Given the description of an element on the screen output the (x, y) to click on. 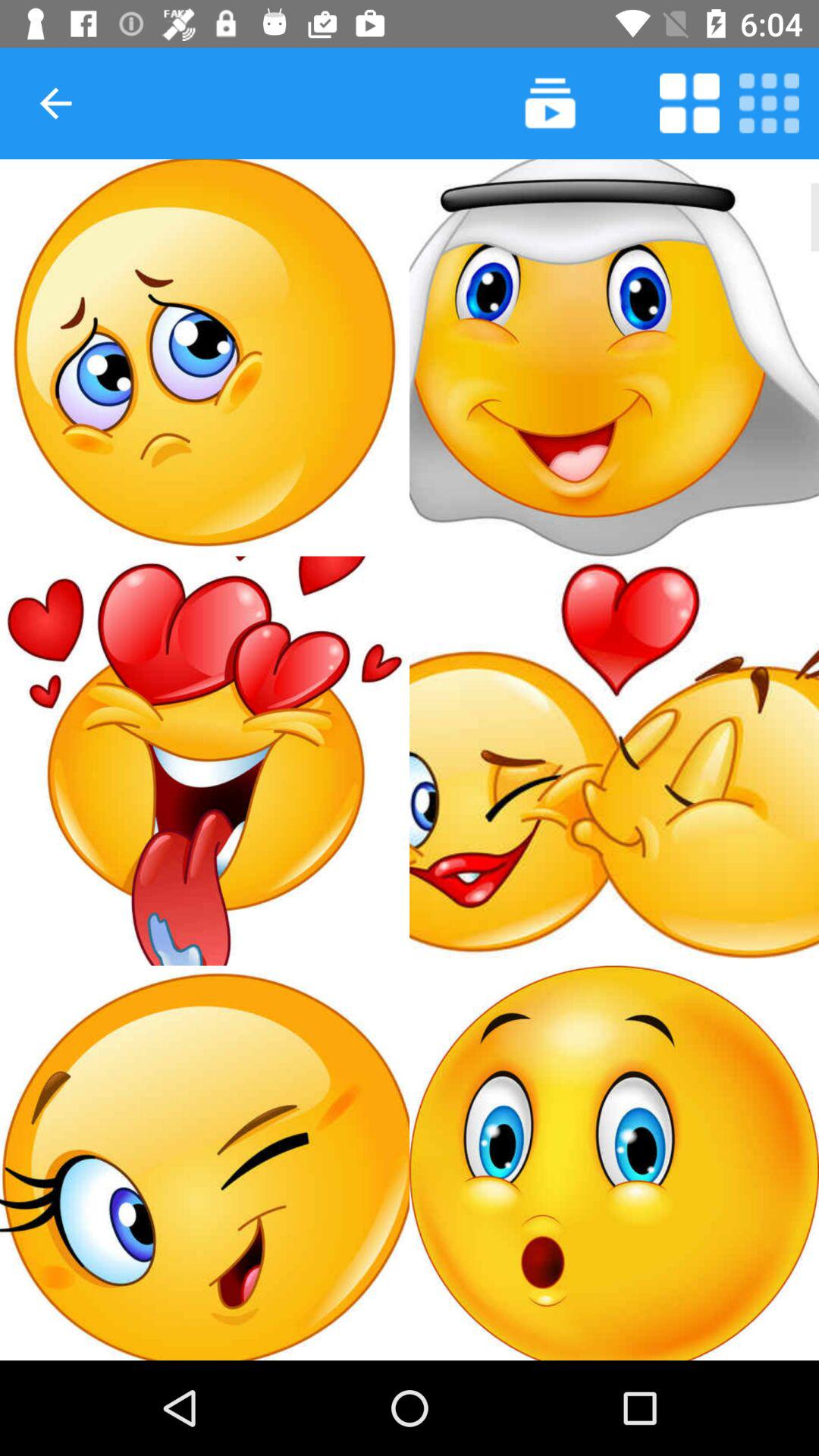
select sad emoji (204, 357)
